Given the description of an element on the screen output the (x, y) to click on. 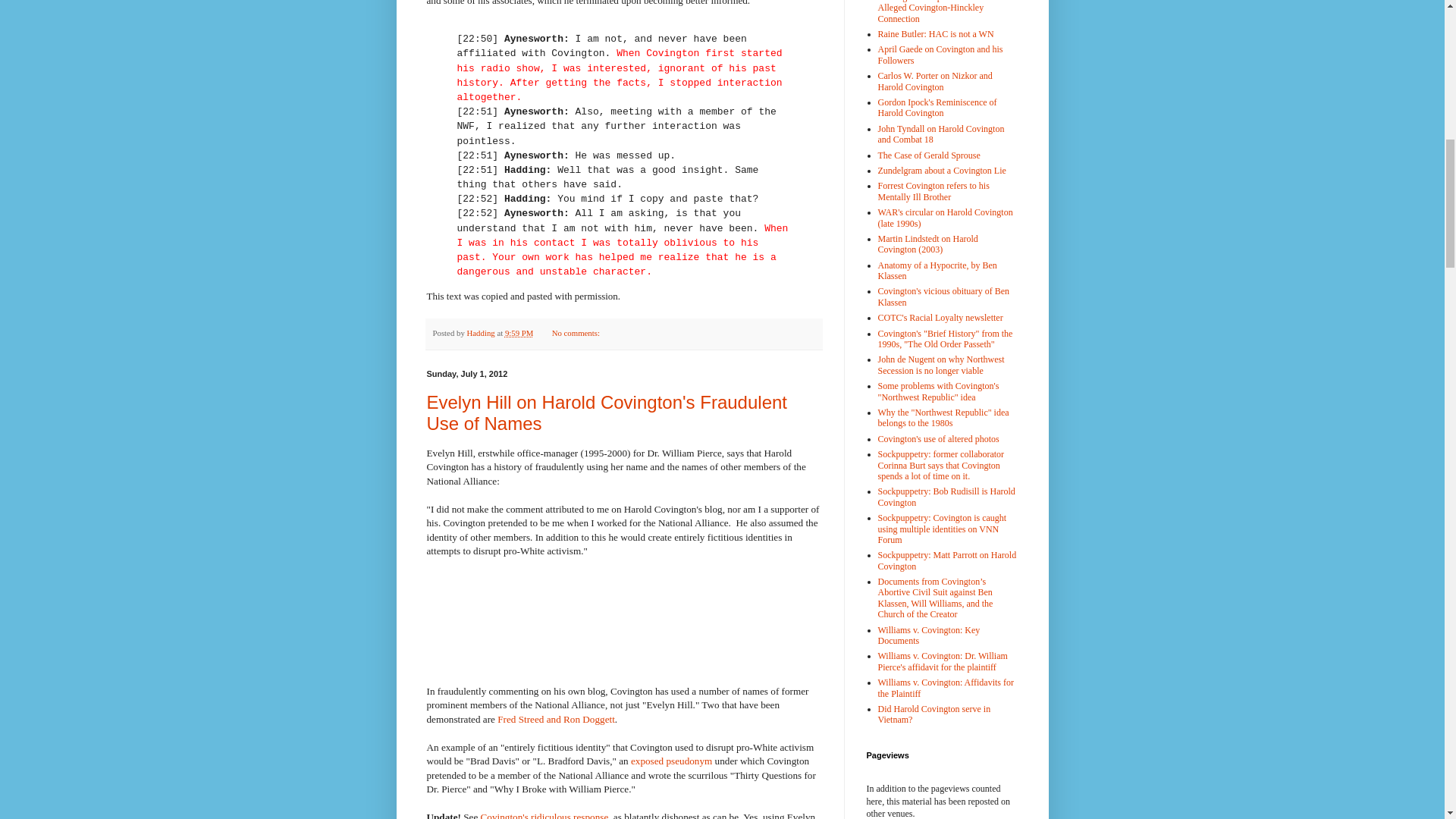
9:59 PM (519, 332)
BlogThis! (647, 333)
Email This (633, 333)
Hadding (482, 332)
BlogThis! (647, 333)
Share to Pinterest (690, 333)
author profile (482, 332)
Share to Facebook (676, 333)
No comments: (576, 332)
exposed pseudonym (670, 760)
Evelyn Hill on Harold Covington's Fraudulent Use of Names (606, 413)
Covington's ridiculous response (544, 815)
Share to Twitter (661, 333)
Share to Facebook (676, 333)
permanent link (519, 332)
